Given the description of an element on the screen output the (x, y) to click on. 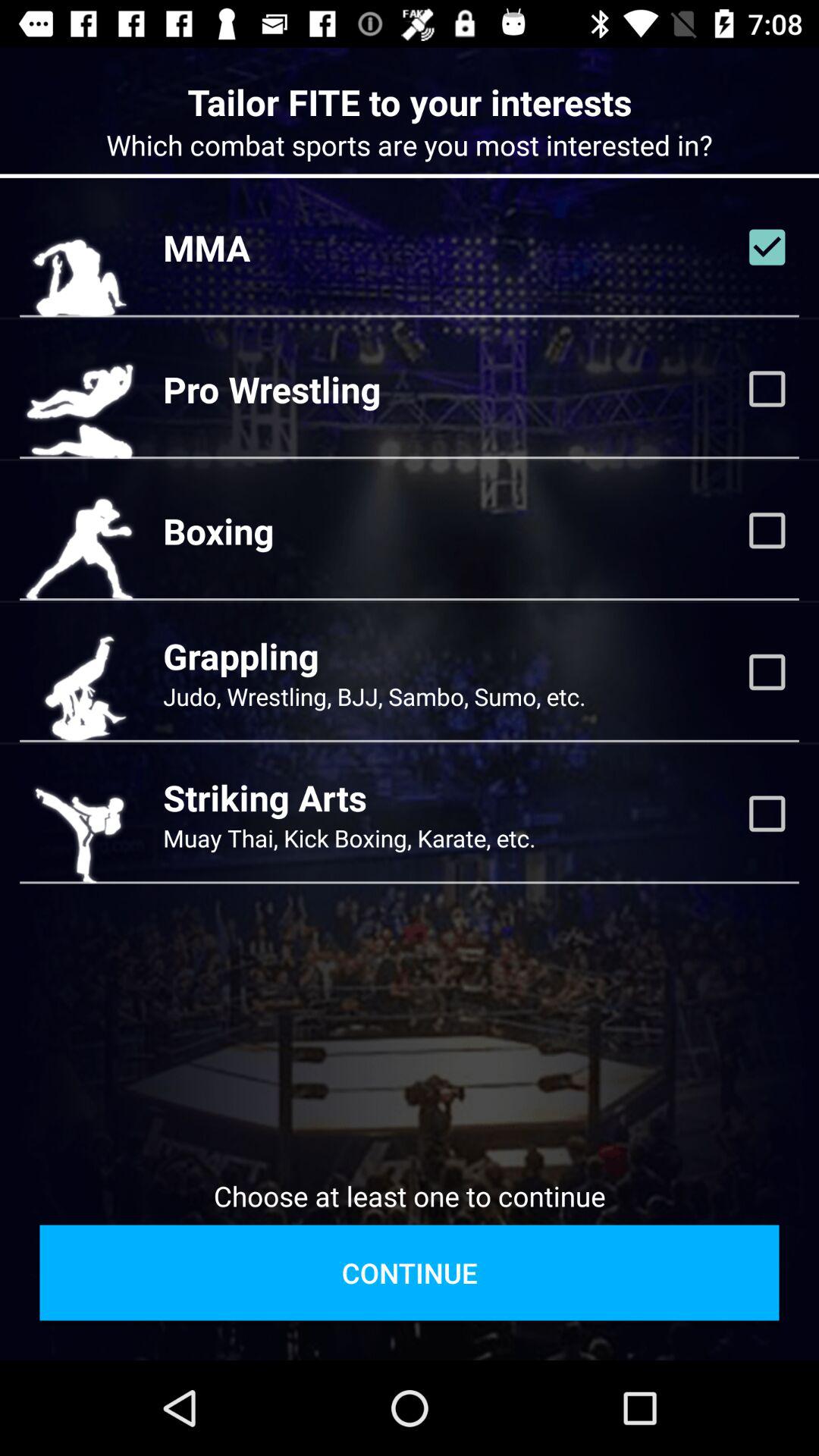
select boxing (767, 530)
